Given the description of an element on the screen output the (x, y) to click on. 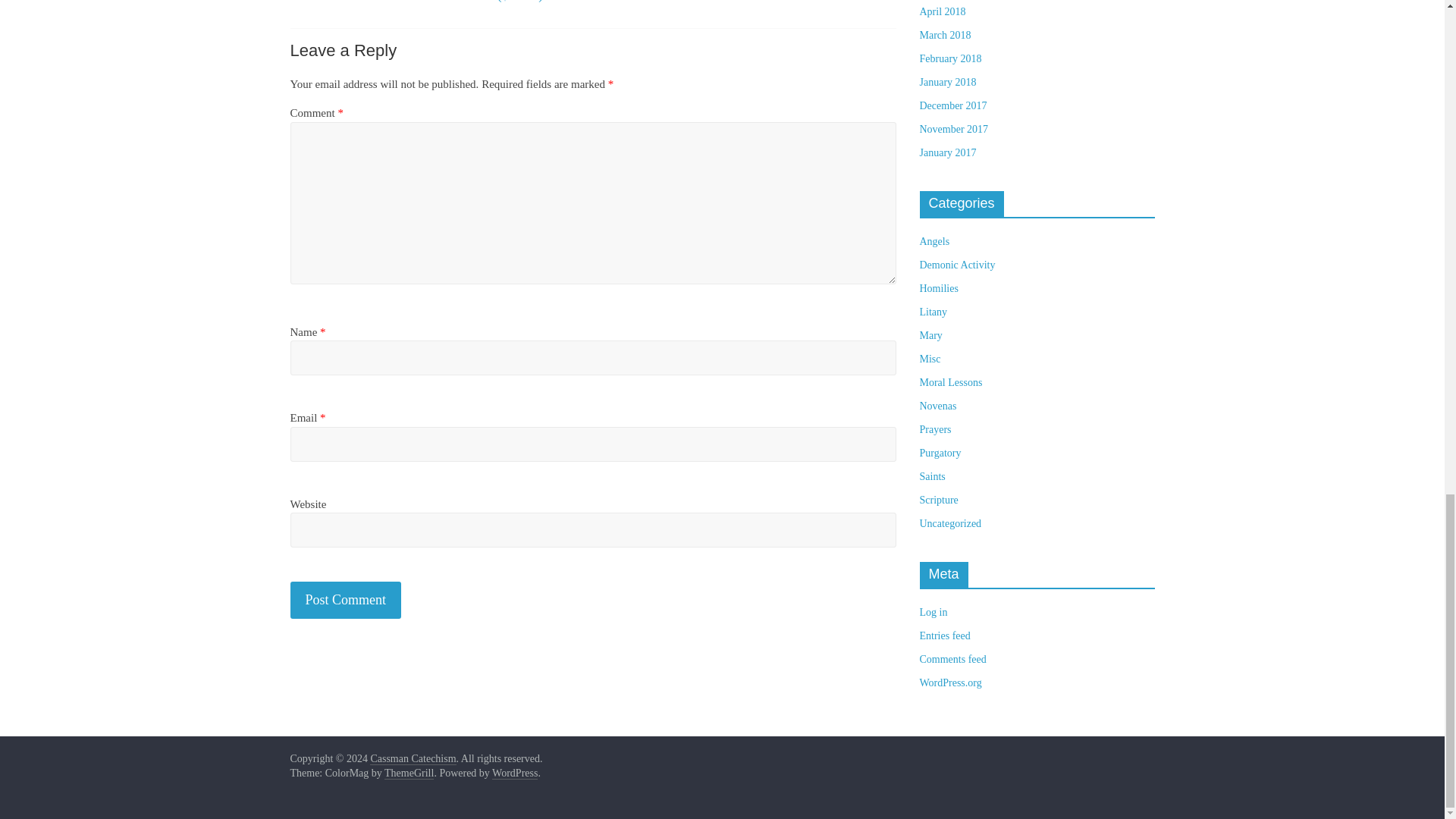
Post Comment (345, 600)
WordPress (514, 773)
Post Comment (345, 600)
ThemeGrill (408, 773)
Cassman Catechism (412, 758)
